Given the description of an element on the screen output the (x, y) to click on. 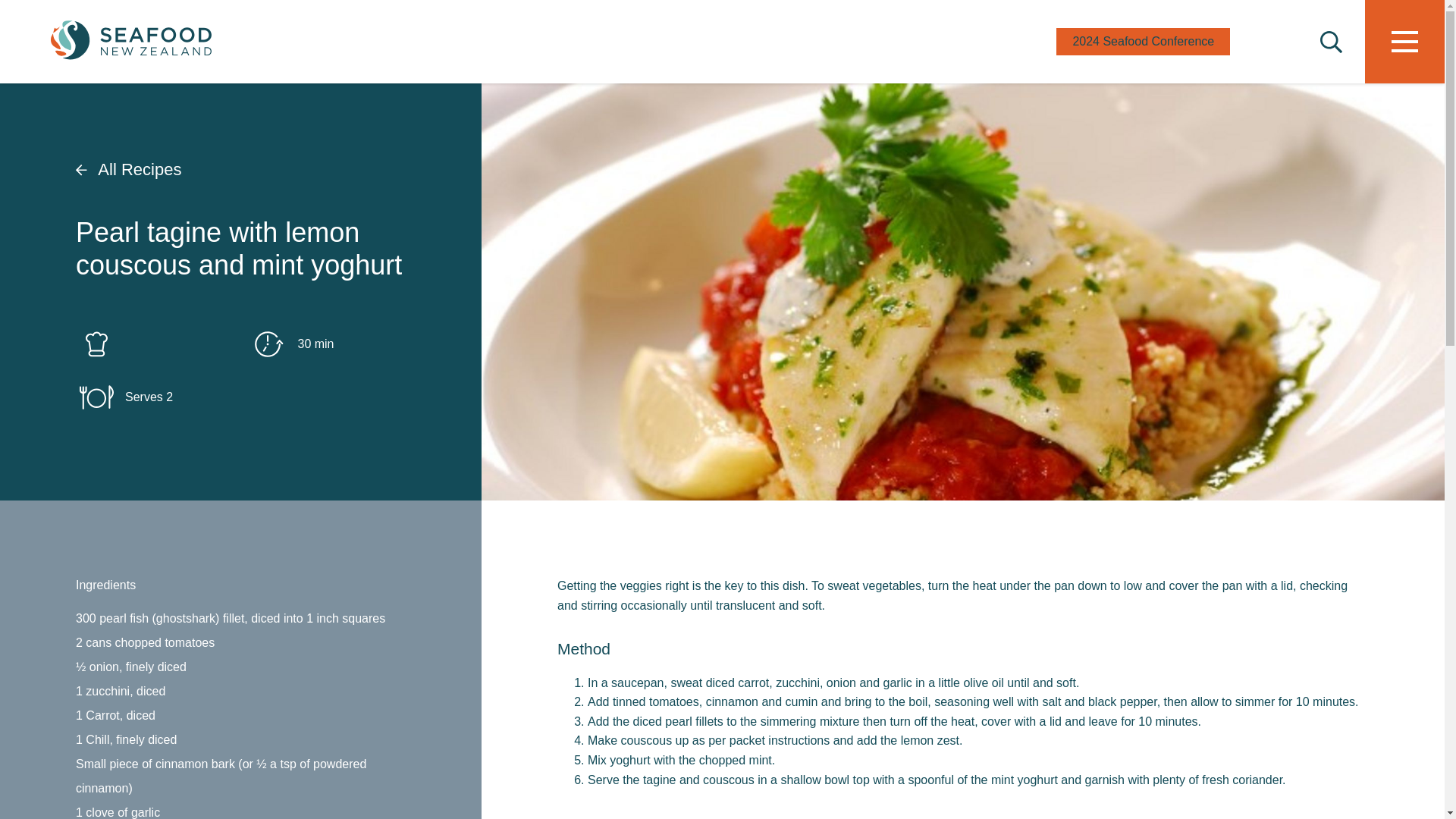
Search (1330, 43)
